Given the description of an element on the screen output the (x, y) to click on. 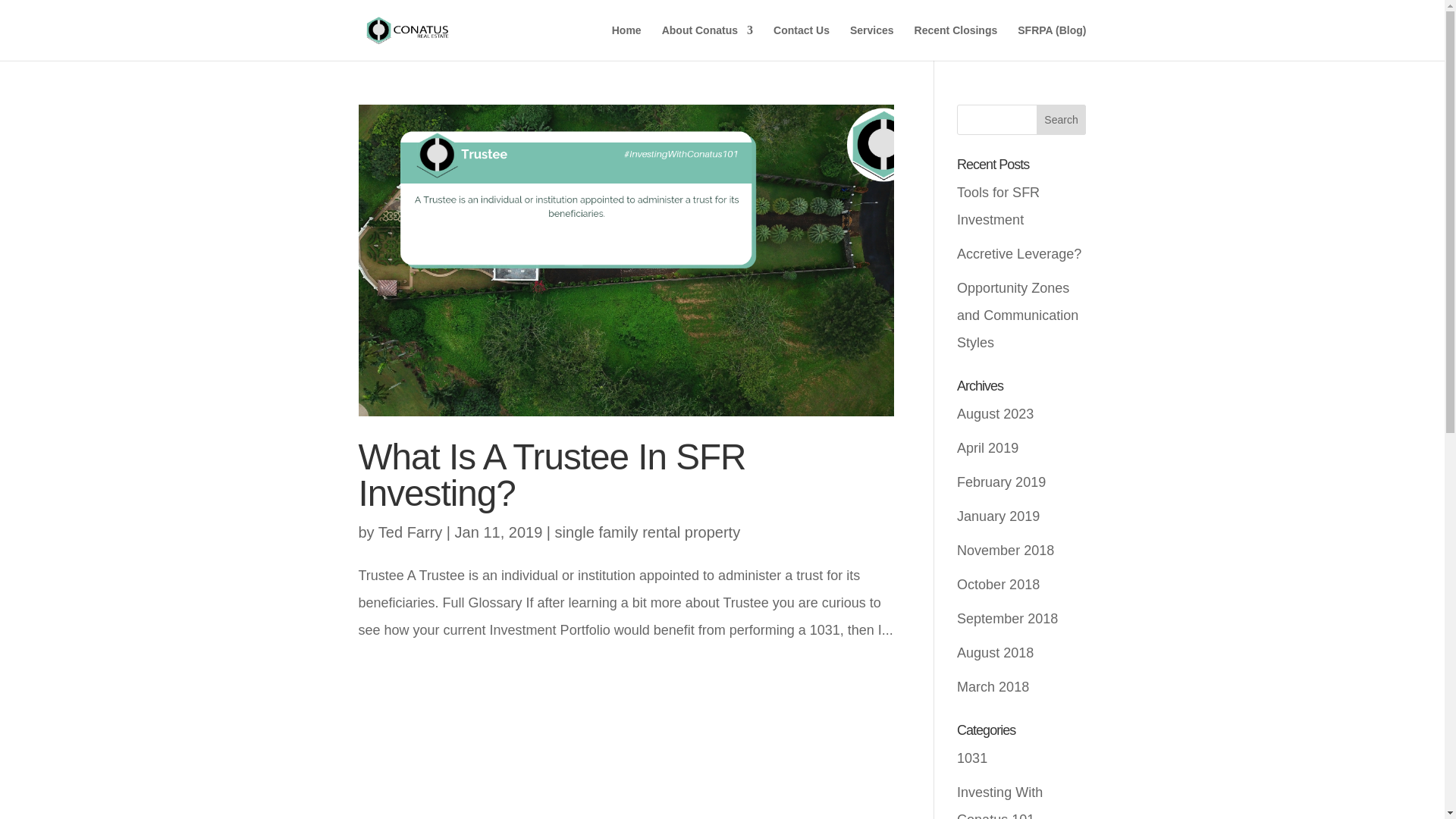
January 2019 (997, 516)
1031 (971, 758)
Contact Us (801, 42)
March 2018 (992, 686)
October 2018 (997, 584)
Ted Farry (410, 532)
September 2018 (1007, 618)
About Conatus (707, 42)
April 2019 (986, 447)
Search (1061, 119)
Opportunity Zones and Communication Styles (1017, 315)
August 2018 (994, 652)
Tools for SFR Investment (997, 206)
What Is A Trustee In SFR Investing? (551, 474)
August 2023 (994, 413)
